Given the description of an element on the screen output the (x, y) to click on. 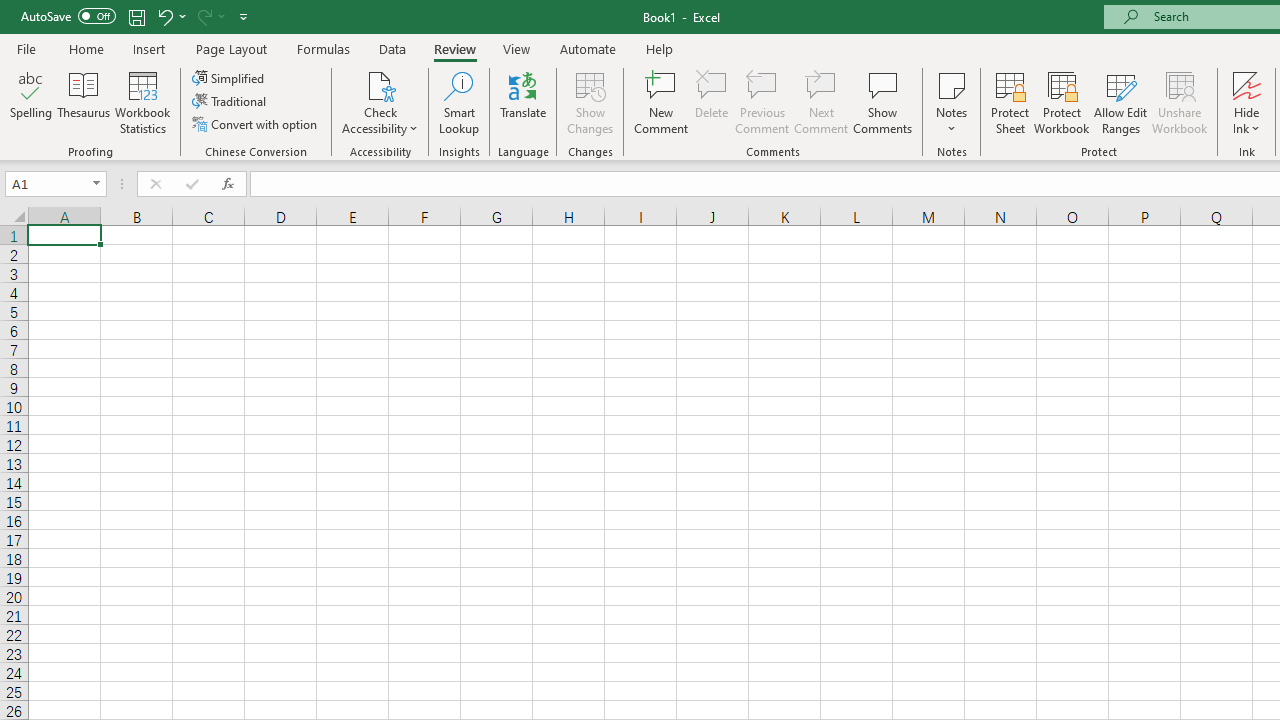
Check Accessibility (380, 84)
Traditional (230, 101)
Workbook Statistics (142, 102)
Spelling... (31, 102)
Simplified (230, 78)
Thesaurus... (83, 102)
Hide Ink (1247, 84)
Check Accessibility (380, 102)
